Given the description of an element on the screen output the (x, y) to click on. 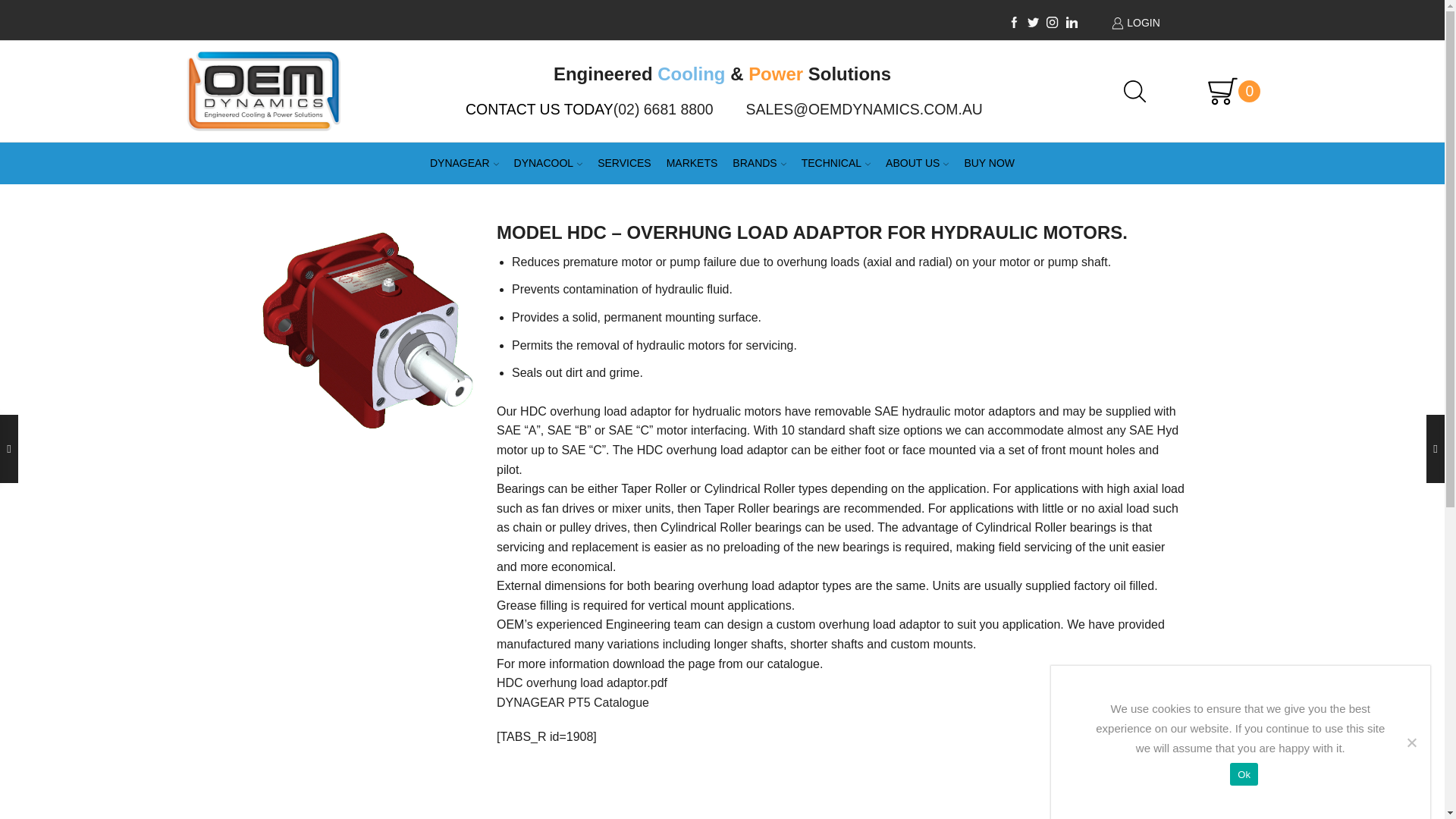
Log in (1149, 313)
LOGIN (1180, 22)
0 (1226, 90)
Downloads Form (572, 702)
No (1410, 742)
DYNAGEAR (464, 163)
